Given the description of an element on the screen output the (x, y) to click on. 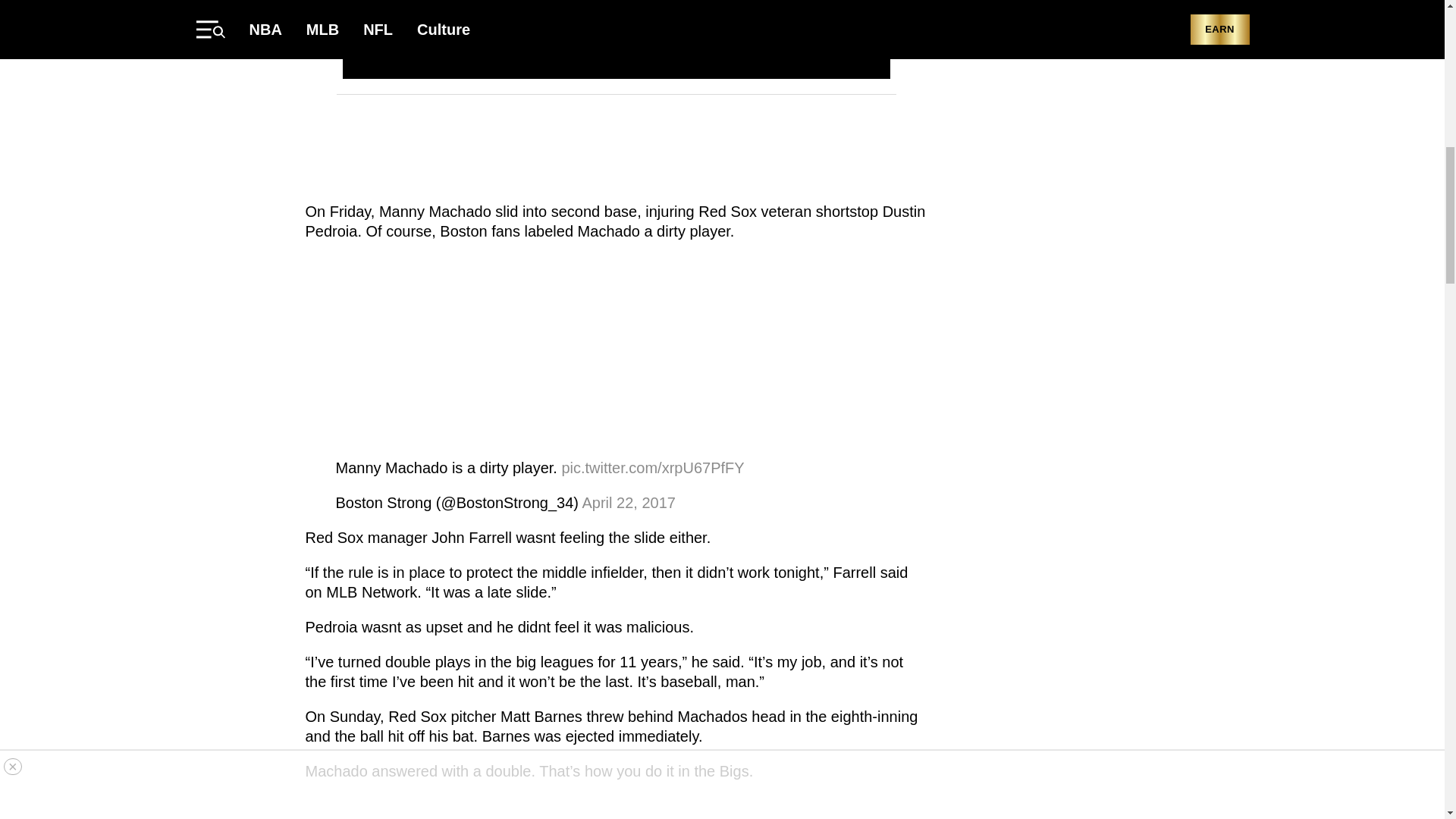
April 22, 2017 (627, 502)
